Given the description of an element on the screen output the (x, y) to click on. 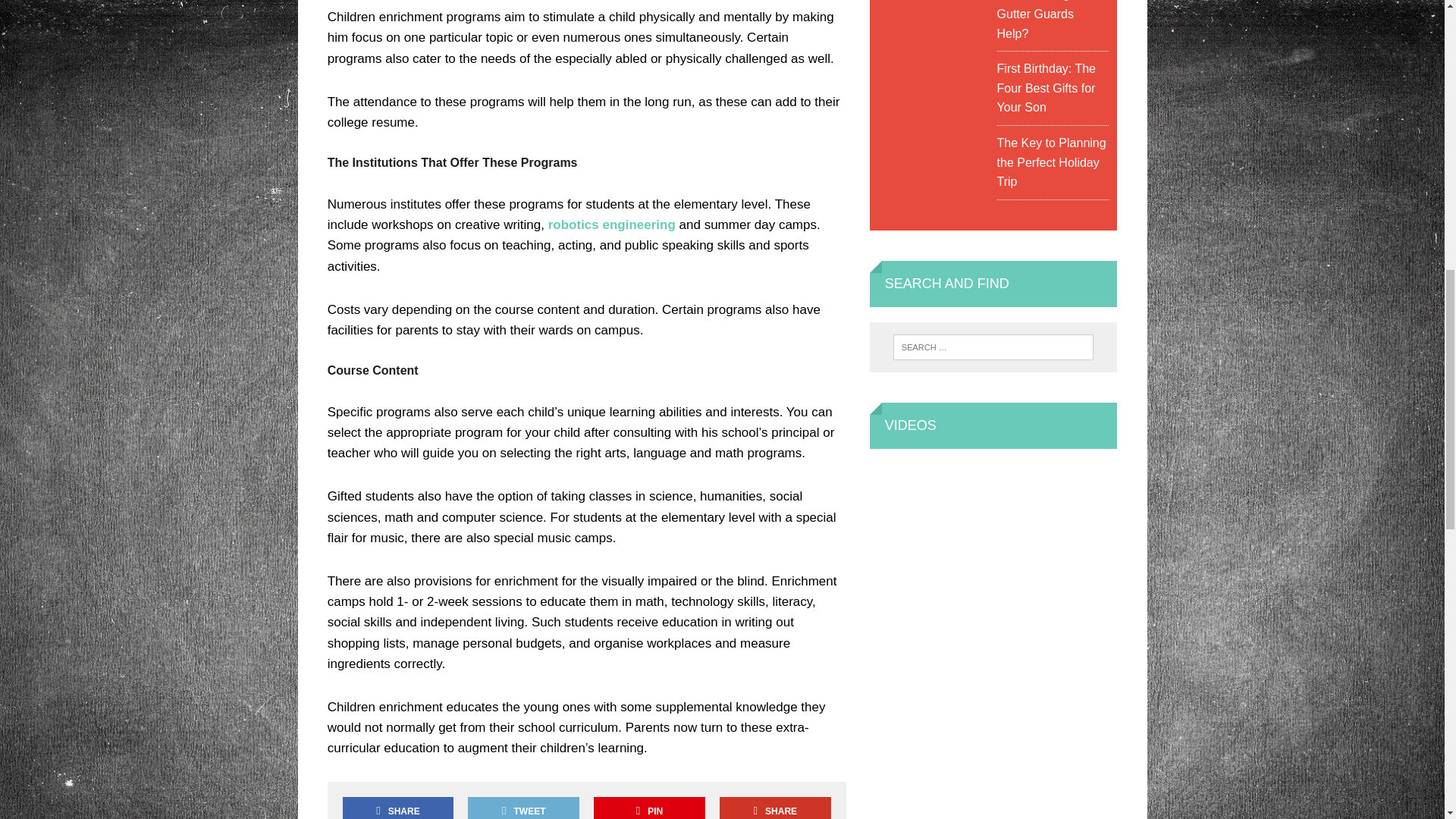
TWEET (522, 807)
SHARE (397, 807)
Snow Damage: Do Gutter Guards Help? (1048, 19)
Tweet This Post (522, 807)
PIN (649, 807)
robotics engineering (611, 224)
Science Buddies (611, 224)
Share on Facebook (397, 807)
Pin This Post (649, 807)
SHARE (774, 807)
First Birthday: The Four Best Gifts for Your Son (1046, 87)
The Key to Planning the Perfect Holiday Trip (1051, 162)
